Given the description of an element on the screen output the (x, y) to click on. 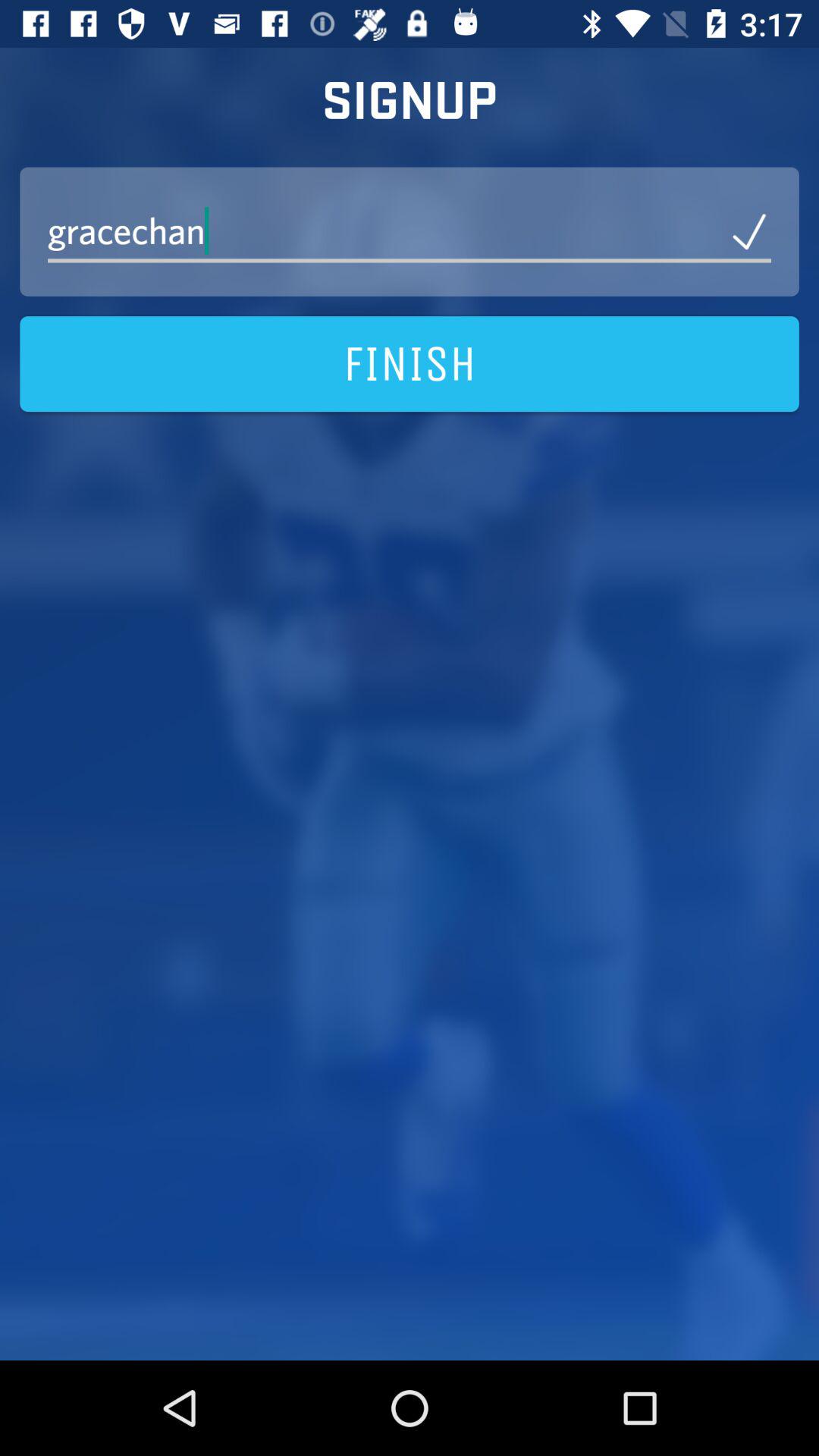
tap the icon above the finish icon (409, 231)
